Given the description of an element on the screen output the (x, y) to click on. 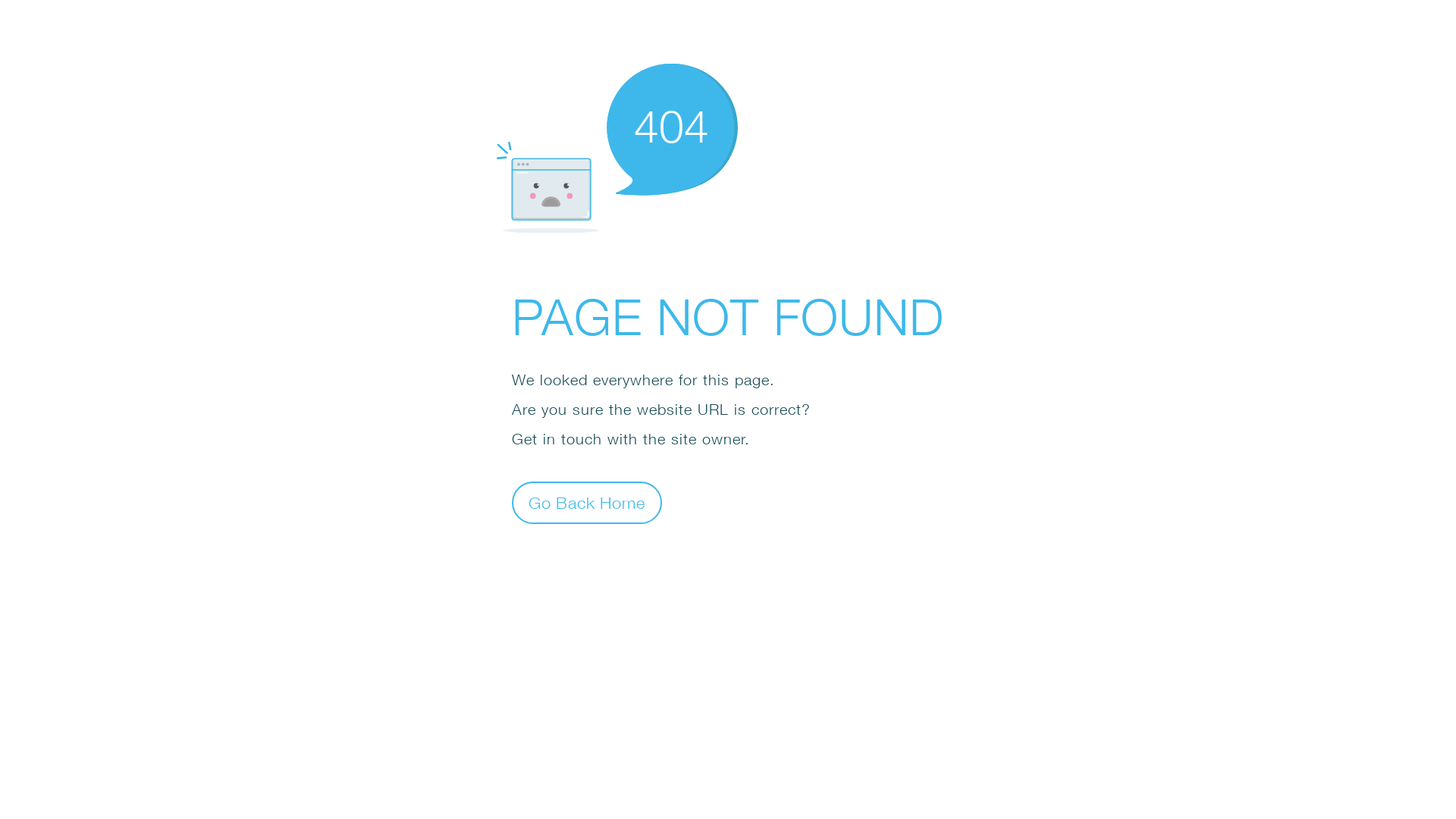
Go Back Home Element type: text (586, 502)
